Given the description of an element on the screen output the (x, y) to click on. 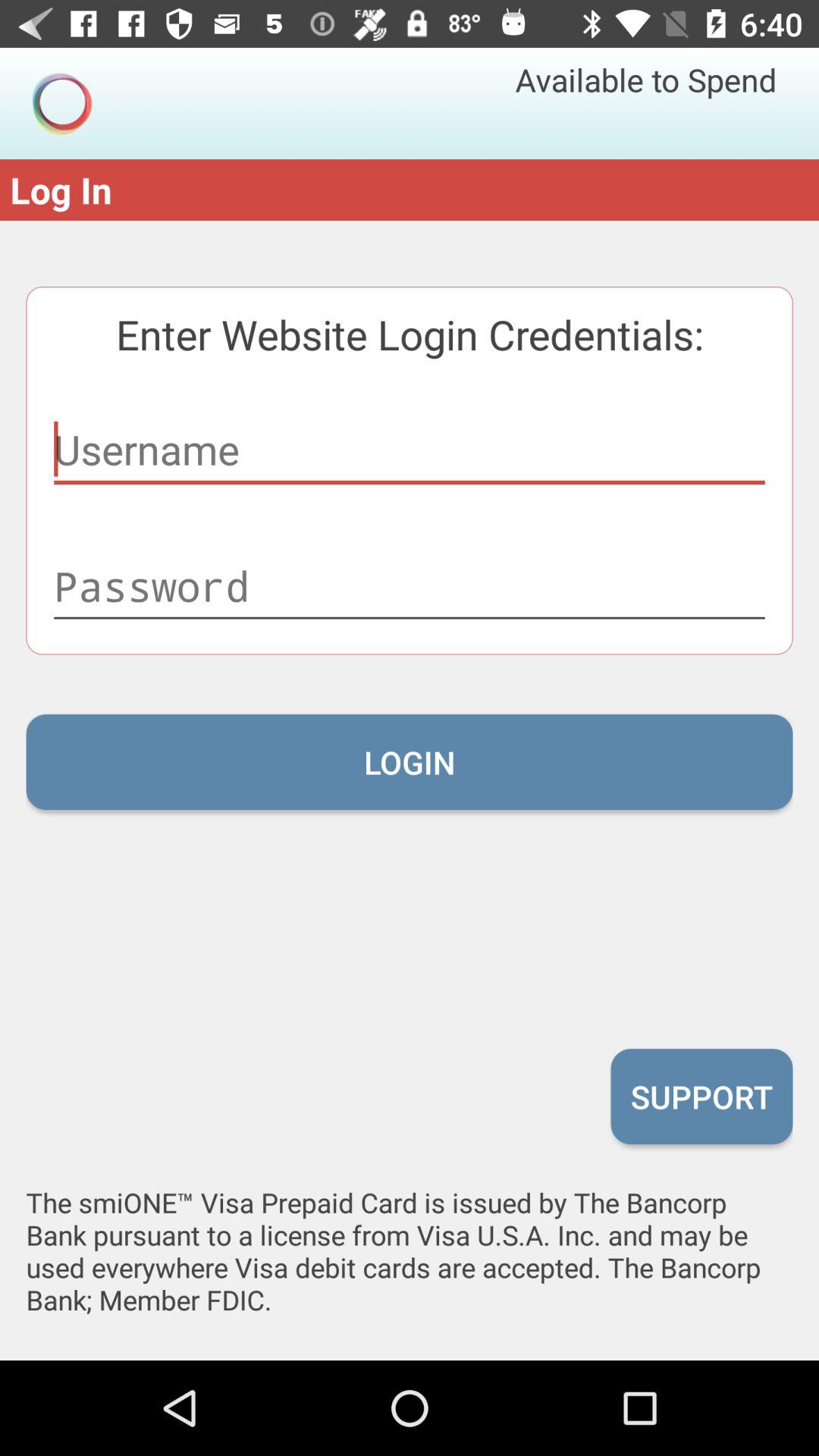
turn off support item (701, 1096)
